Given the description of an element on the screen output the (x, y) to click on. 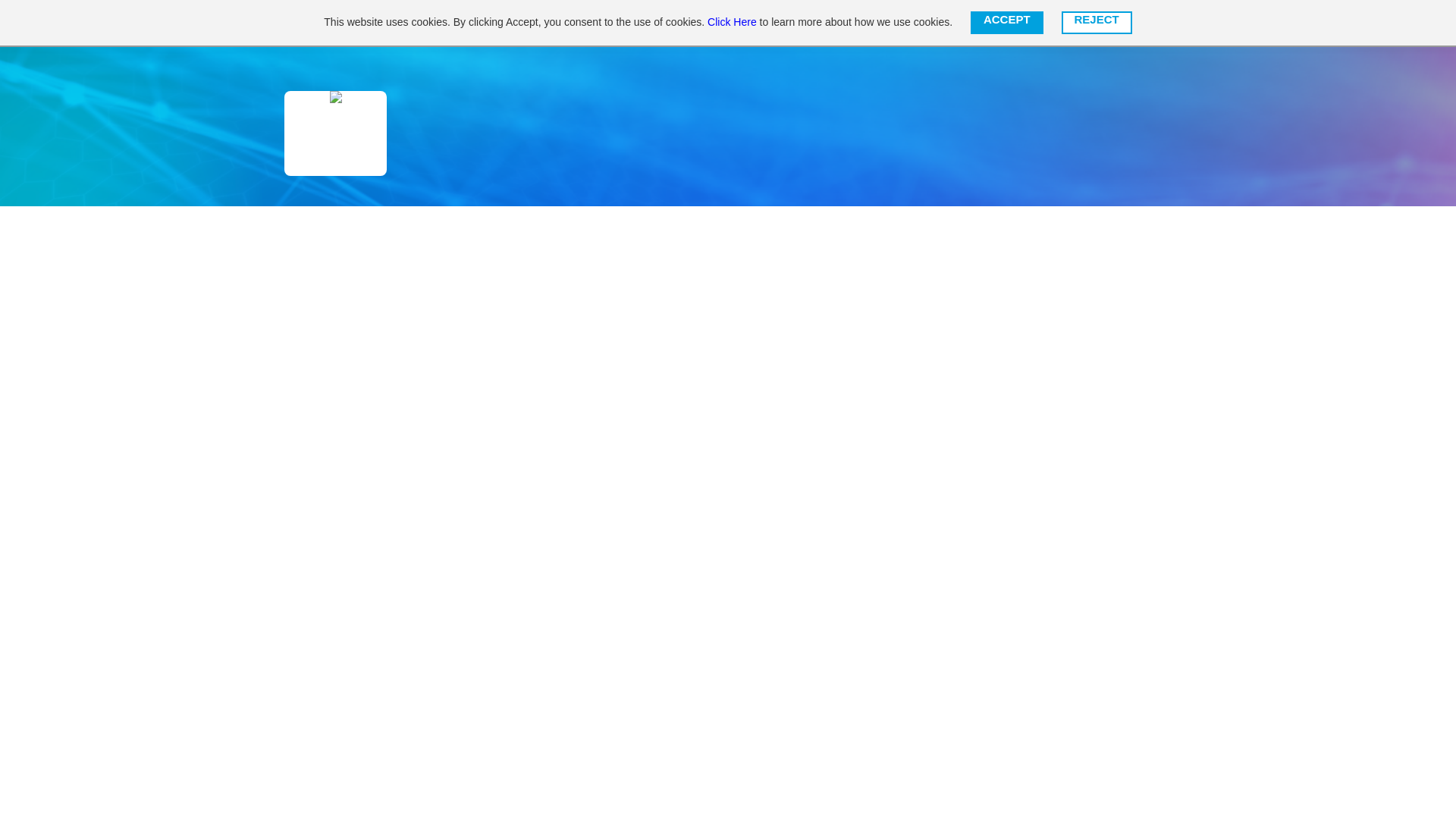
I'm New! (886, 22)
Click Here (732, 21)
More (947, 22)
REJECT (1096, 22)
Flexera Community (373, 22)
ACCEPT (1007, 22)
Learn (605, 22)
Product Access (1023, 22)
Support (720, 22)
Find My Product (526, 22)
Ideas (659, 22)
